Given the description of an element on the screen output the (x, y) to click on. 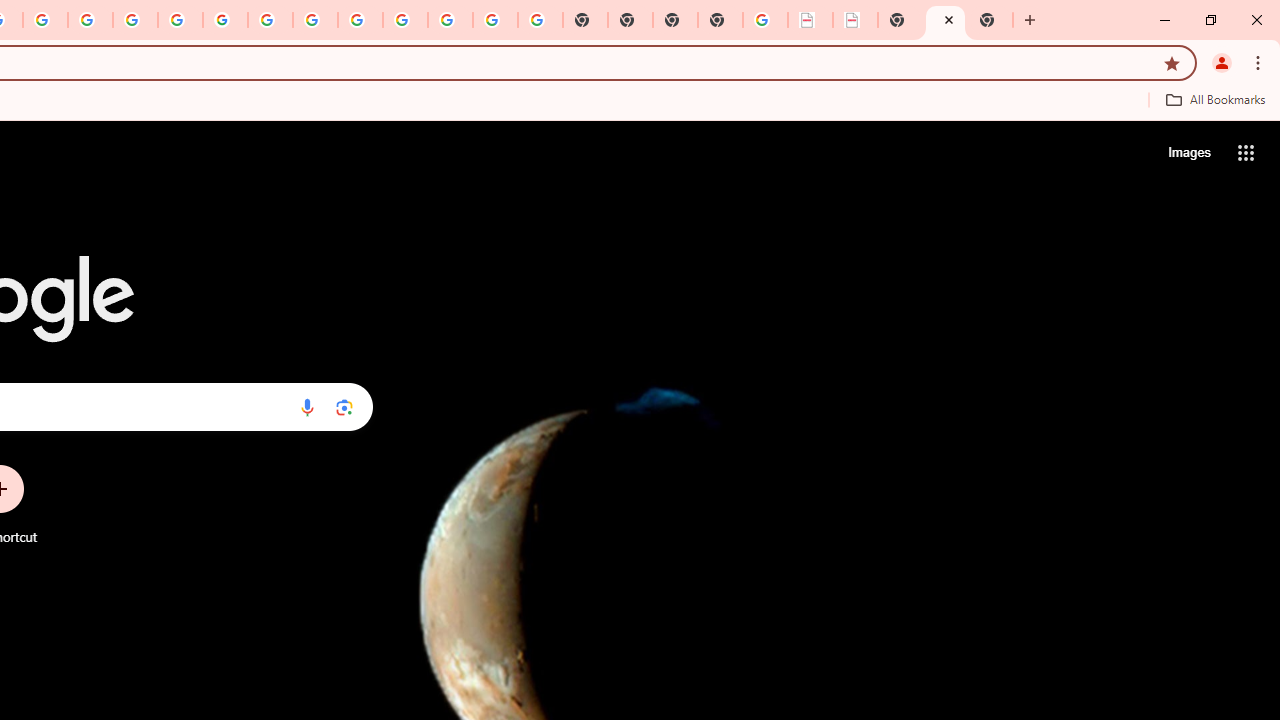
Privacy Help Center - Policies Help (134, 20)
New Tab (720, 20)
LAAD Defence & Security 2025 | BAE Systems (810, 20)
New Tab (989, 20)
Search by voice (307, 407)
Google Images (540, 20)
BAE Systems Brasil | BAE Systems (855, 20)
